Given the description of an element on the screen output the (x, y) to click on. 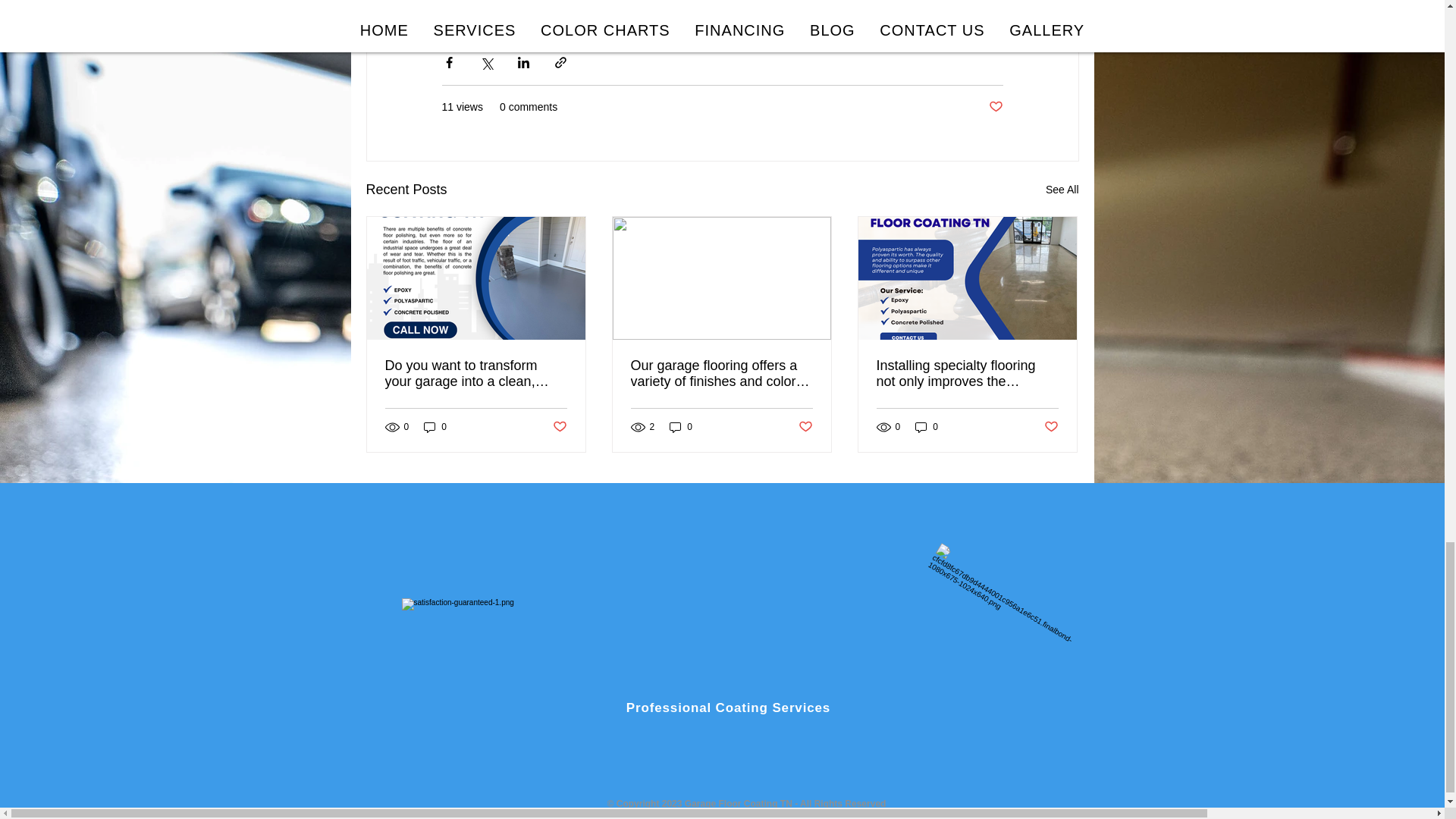
Post not marked as liked (804, 426)
0 (435, 426)
Post not marked as liked (995, 107)
Post not marked as liked (558, 426)
0 (681, 426)
Professional Coating Services (727, 707)
0 (926, 426)
See All (1061, 189)
Post not marked as liked (1050, 426)
